Given the description of an element on the screen output the (x, y) to click on. 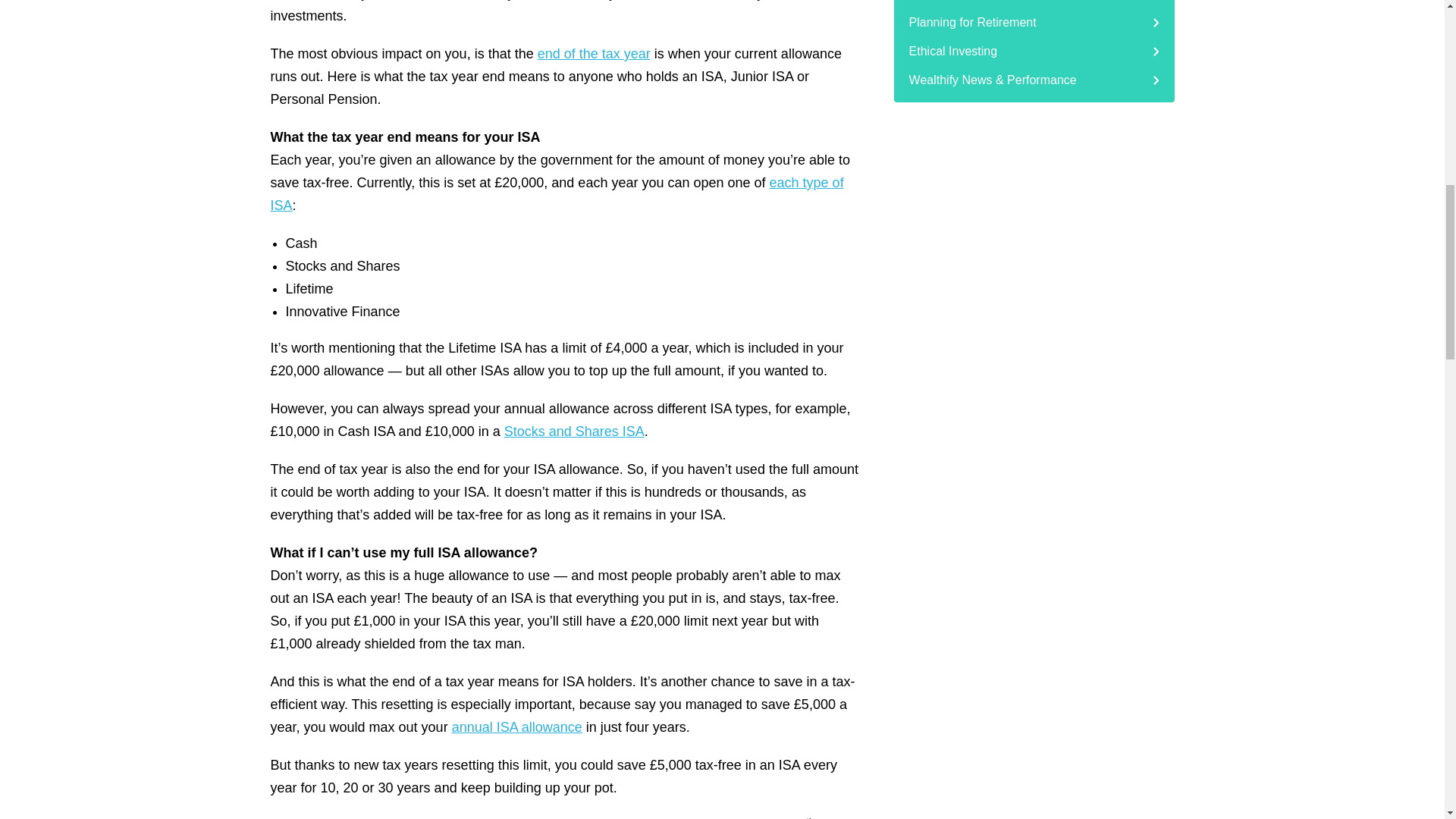
Planning for the Future (1034, 4)
end of the tax year (593, 53)
Stocks and Shares ISA (574, 431)
annual ISA allowance (516, 726)
What you need to know about the end of the tax year (593, 53)
Learn more about your annual ISA allowance (516, 726)
Ethical Investing (1034, 51)
each type of ISA (556, 193)
Planning for Retirement (1034, 22)
